Given the description of an element on the screen output the (x, y) to click on. 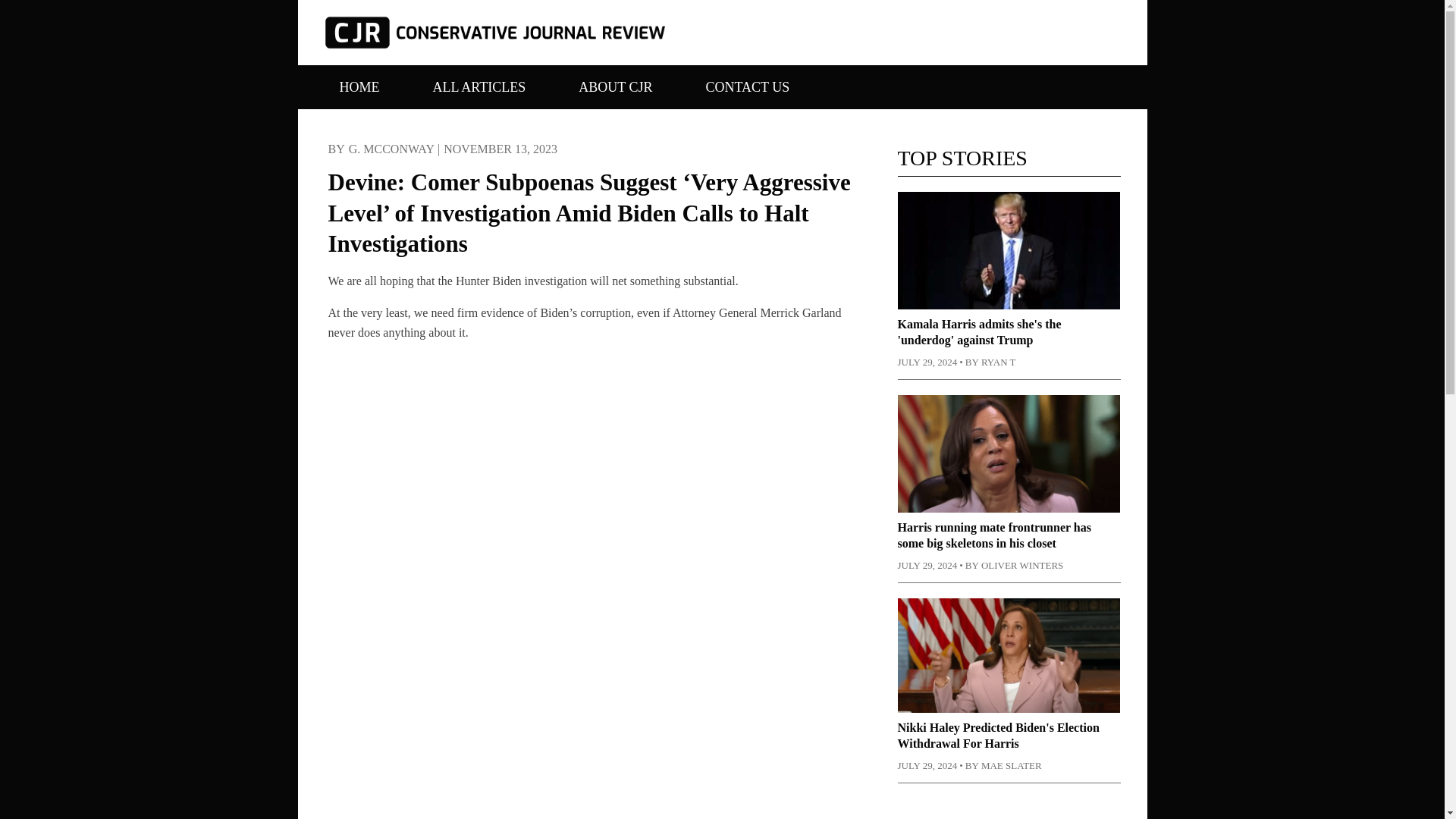
CONTACT US (747, 90)
G. MCCONWAY (391, 148)
ABOUT CJR (615, 90)
HOME (358, 90)
ALL ARTICLES (479, 90)
Kamala Harris admits she's the 'underdog' against Trump (979, 331)
Nikki Haley Predicted Biden's Election Withdrawal For Harris (998, 735)
